Given the description of an element on the screen output the (x, y) to click on. 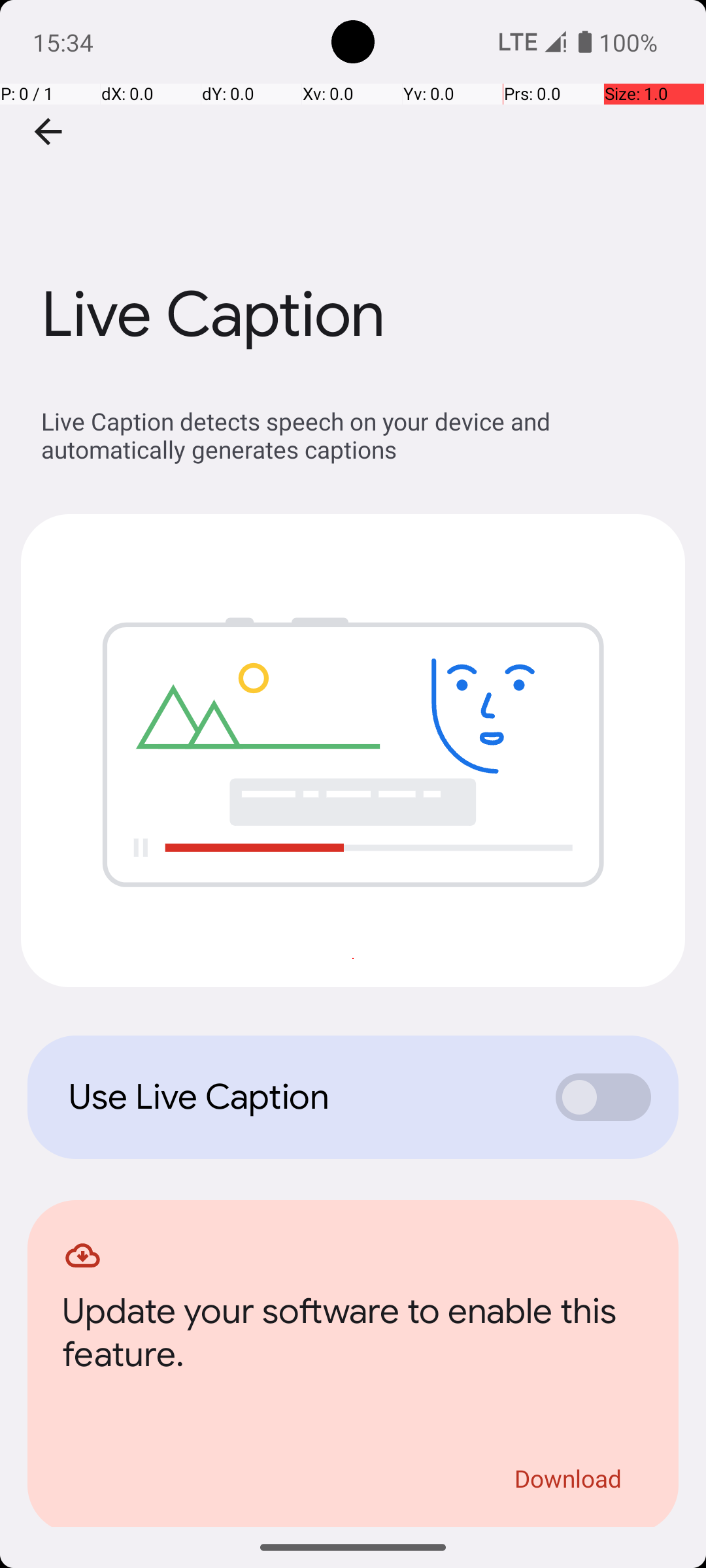
Live Caption detects speech on your device and automatically generates captions Element type: android.widget.TextView (359, 434)
Use Live Caption Element type: android.widget.TextView (298, 1096)
Update your software to enable this feature. Element type: android.widget.TextView (352, 1336)
